Given the description of an element on the screen output the (x, y) to click on. 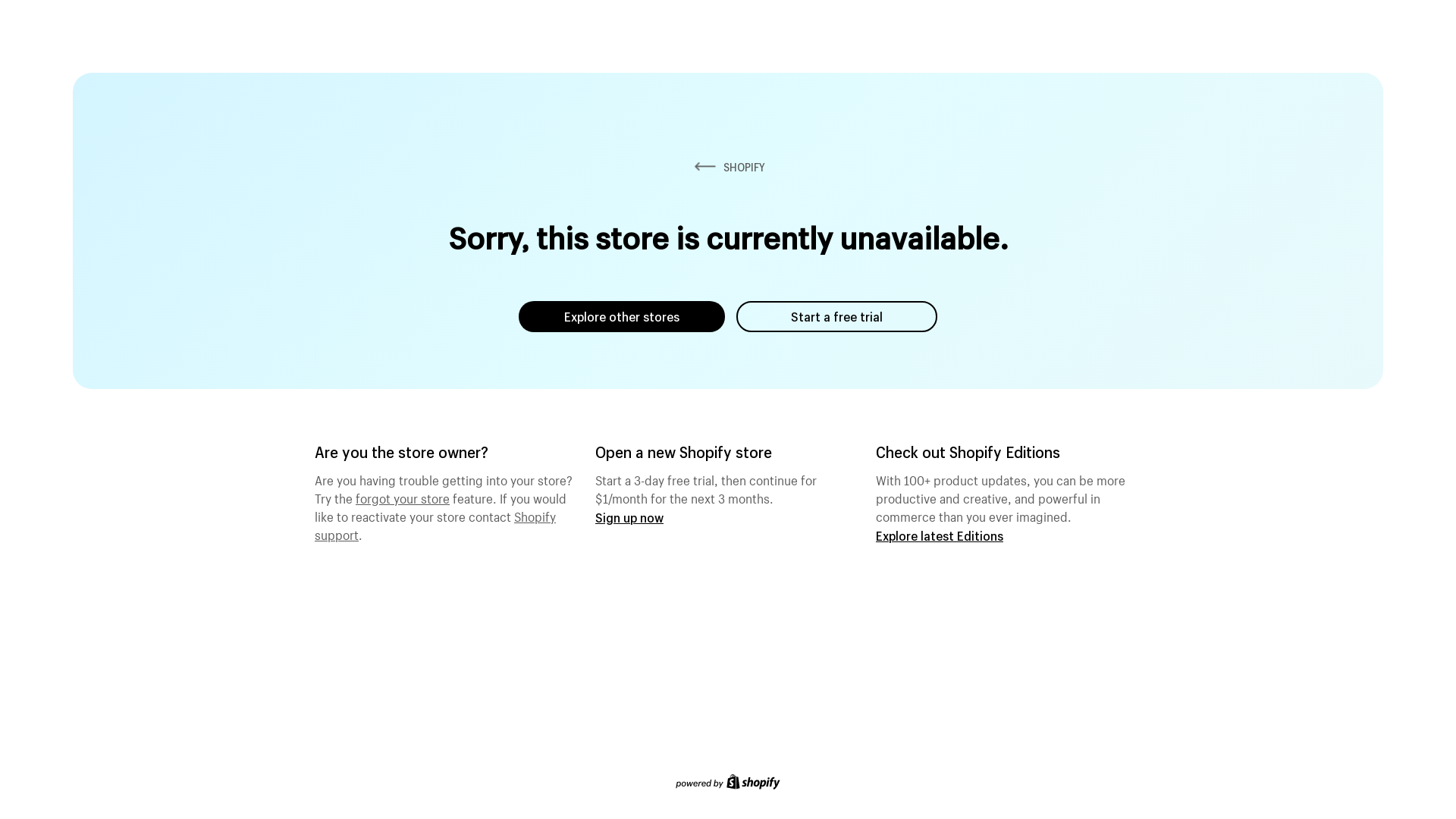
Explore latest Editions Element type: text (939, 535)
SHOPIFY Element type: text (727, 167)
Start a free trial Element type: text (836, 316)
Explore other stores Element type: text (621, 316)
Shopify support Element type: text (434, 523)
forgot your store Element type: text (402, 496)
Sign up now Element type: text (629, 517)
